Given the description of an element on the screen output the (x, y) to click on. 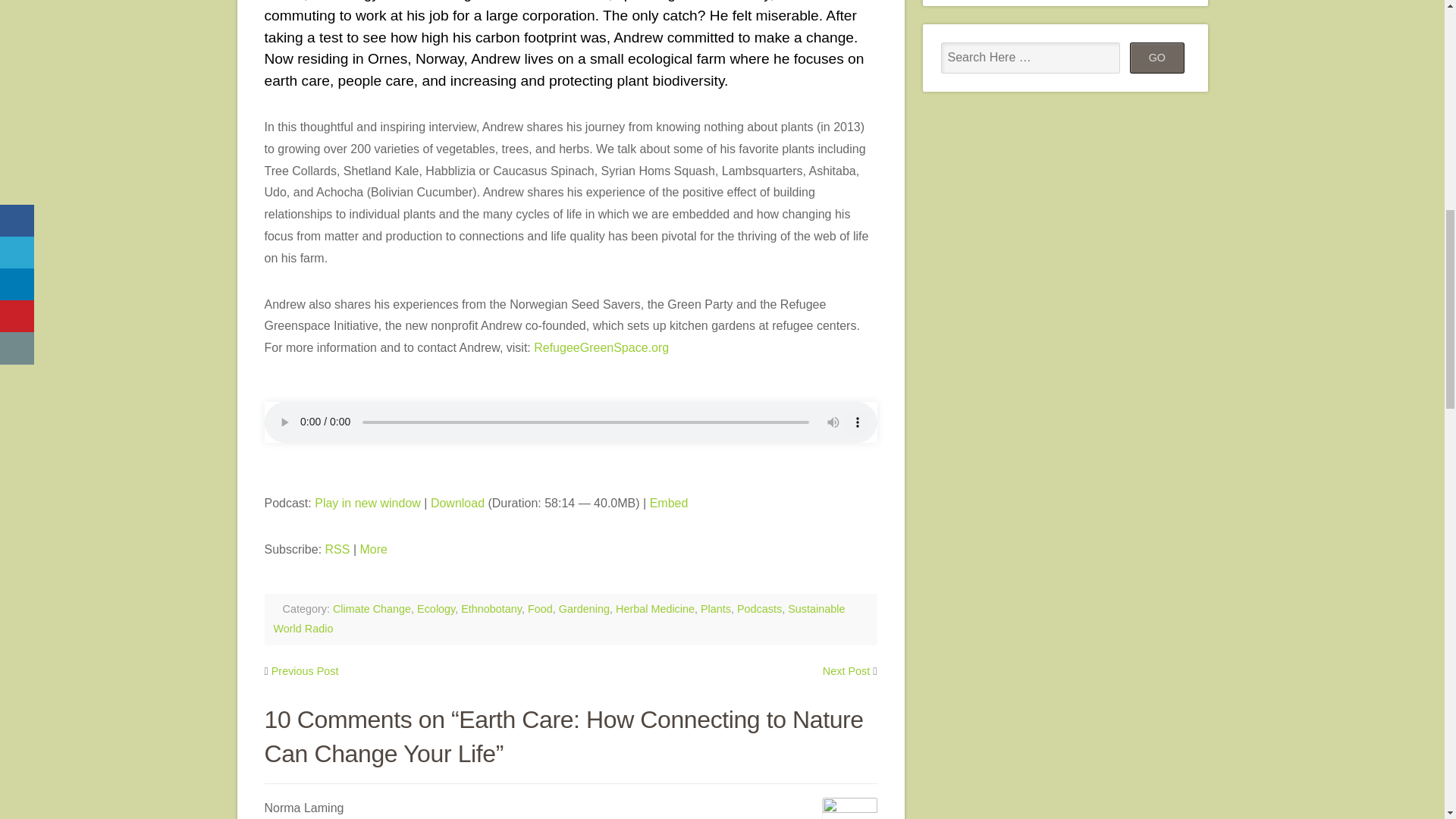
Food (540, 608)
Download (457, 502)
Ethnobotany (491, 608)
RSS (337, 549)
Podcasts (758, 608)
Subscribe via RSS (337, 549)
Sustainable World Radio (558, 618)
More (373, 549)
Ecology (435, 608)
RefugeeGreenSpace.org (601, 347)
More (373, 549)
Play in new window (367, 502)
Herbal Medicine (654, 608)
Download (457, 502)
Climate Change (371, 608)
